Given the description of an element on the screen output the (x, y) to click on. 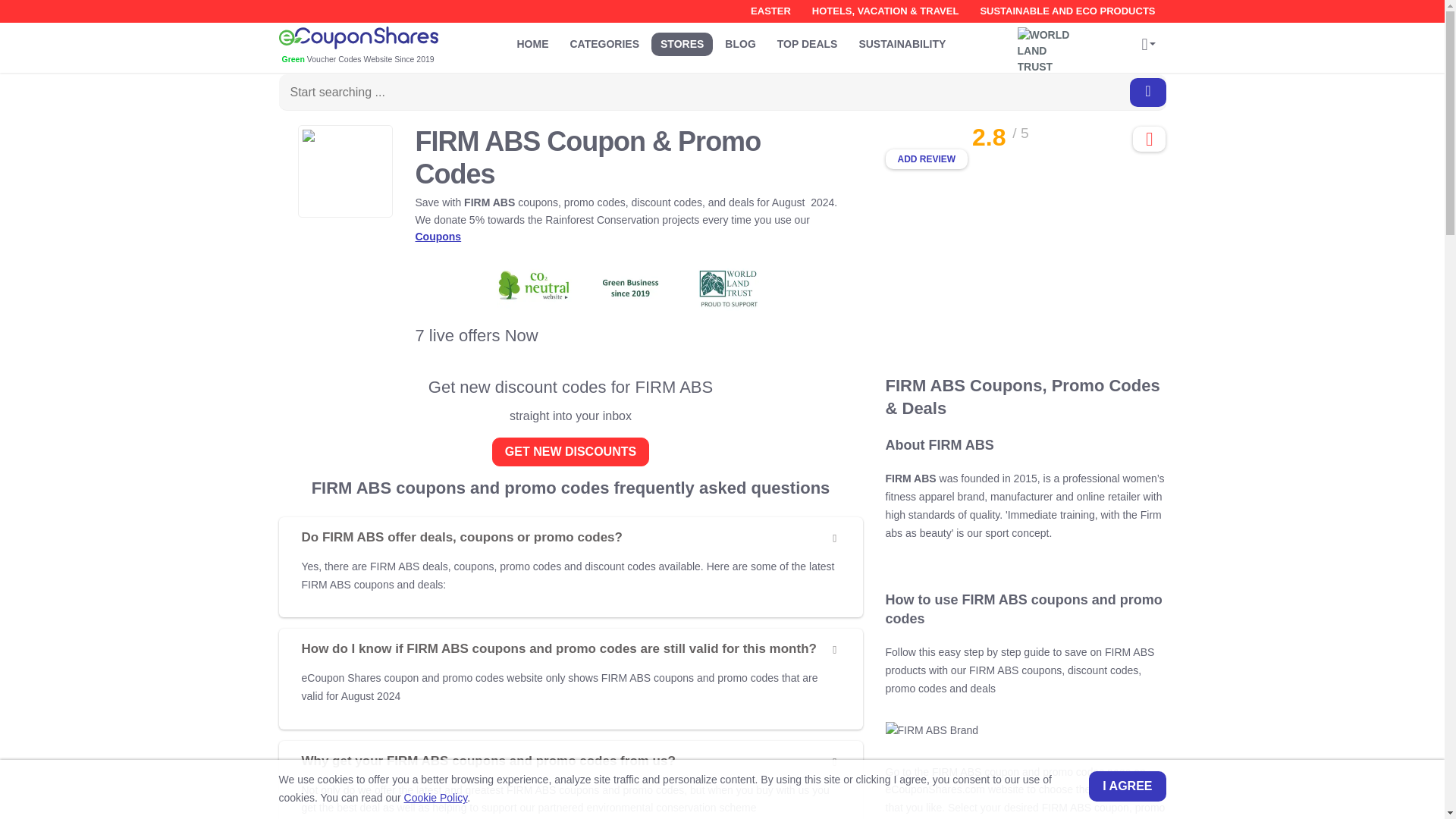
Sustainable and Eco Products (1067, 11)
World Land Trust (1048, 44)
SUSTAINABLE AND ECO PRODUCTS (1067, 11)
Personal Area (1148, 45)
Top Deals (807, 44)
Green Voucher Codes Website Since 2019 (381, 46)
Categories (604, 44)
ecouponshares.com (381, 46)
Blog (740, 44)
TOP DEALS (807, 44)
ADD REVIEW (926, 158)
HOME (532, 44)
PROUD TO SUPPORT (1048, 44)
GET NEW DISCOUNTS (570, 451)
STORES (681, 44)
